Given the description of an element on the screen output the (x, y) to click on. 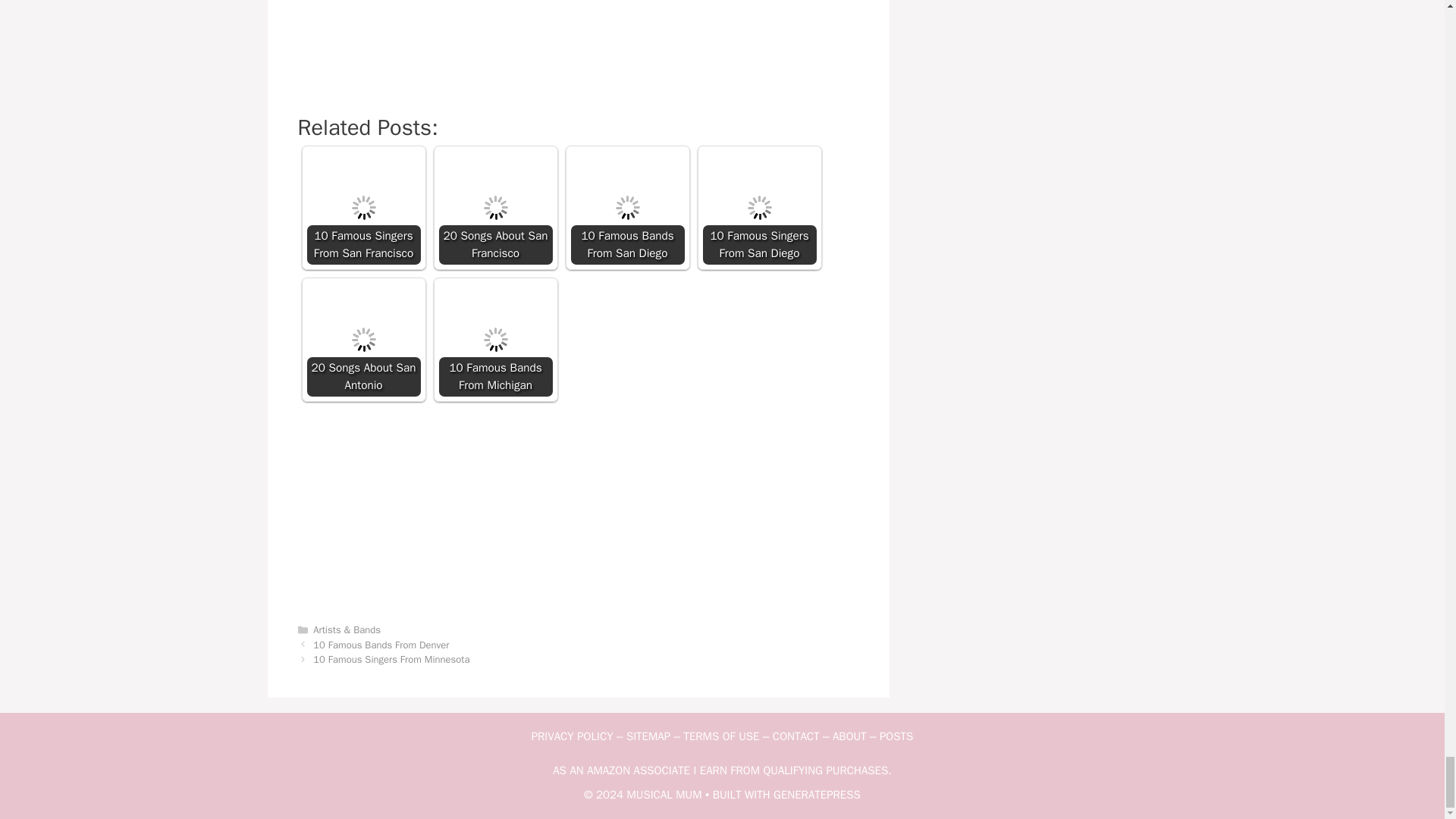
10 Famous Singers From San Francisco (362, 207)
